Given the description of an element on the screen output the (x, y) to click on. 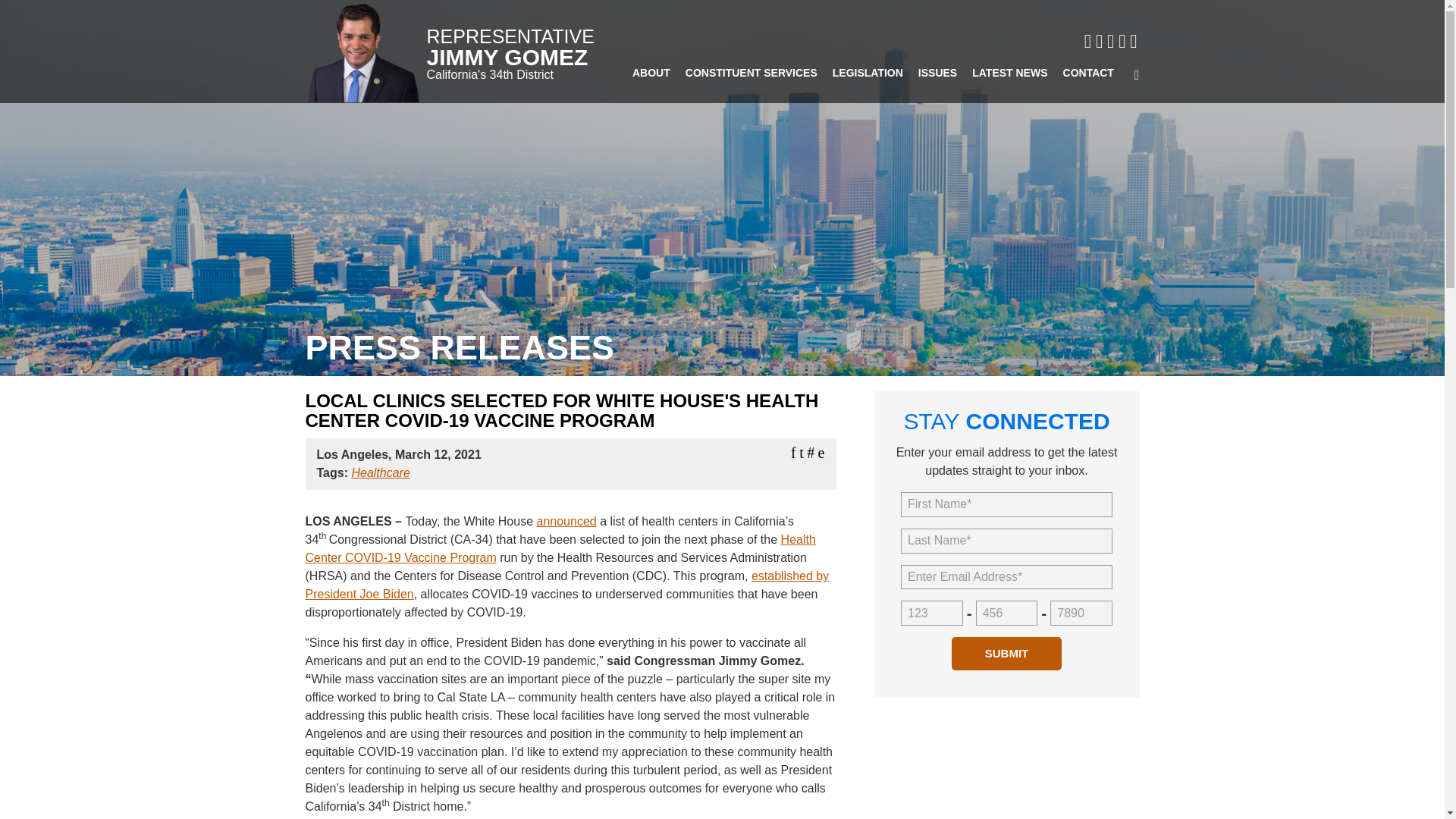
CONSTITUENT SERVICES (751, 80)
ABOUT (651, 80)
LEGISLATION (868, 80)
